Given the description of an element on the screen output the (x, y) to click on. 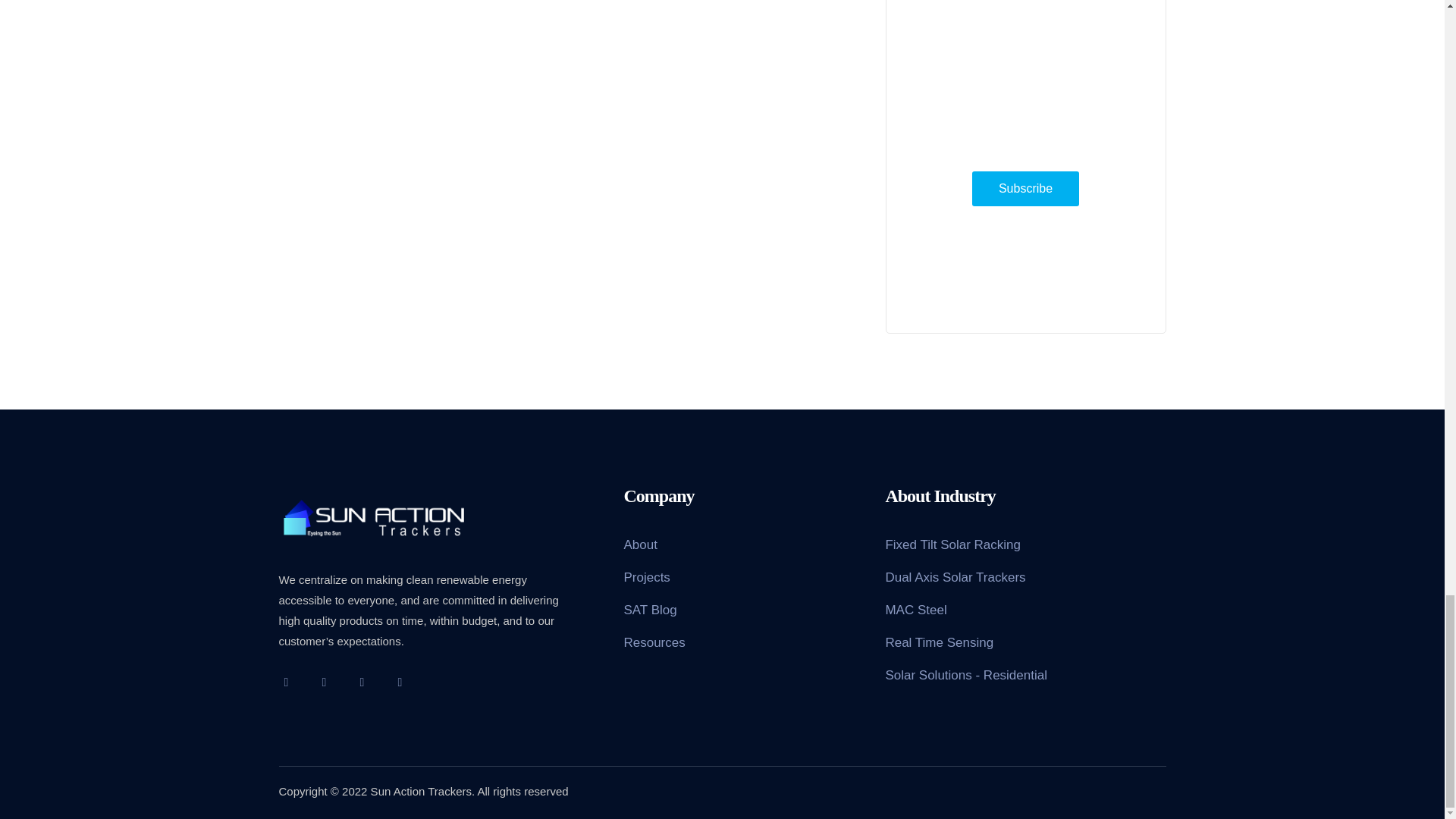
twitter (286, 681)
